Given the description of an element on the screen output the (x, y) to click on. 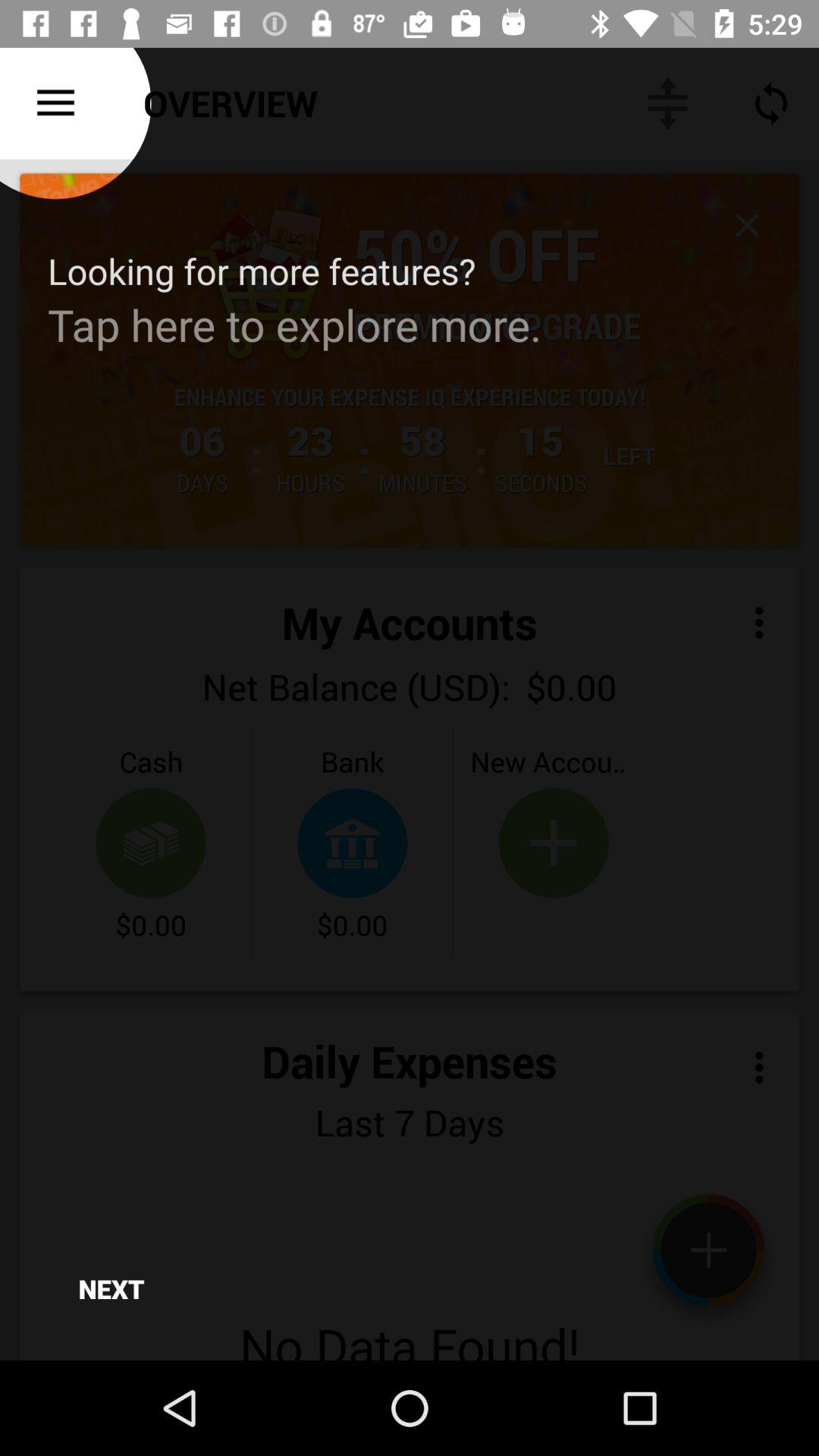
go to bottom of cash (151, 843)
click on icon below time (771, 103)
